Given the description of an element on the screen output the (x, y) to click on. 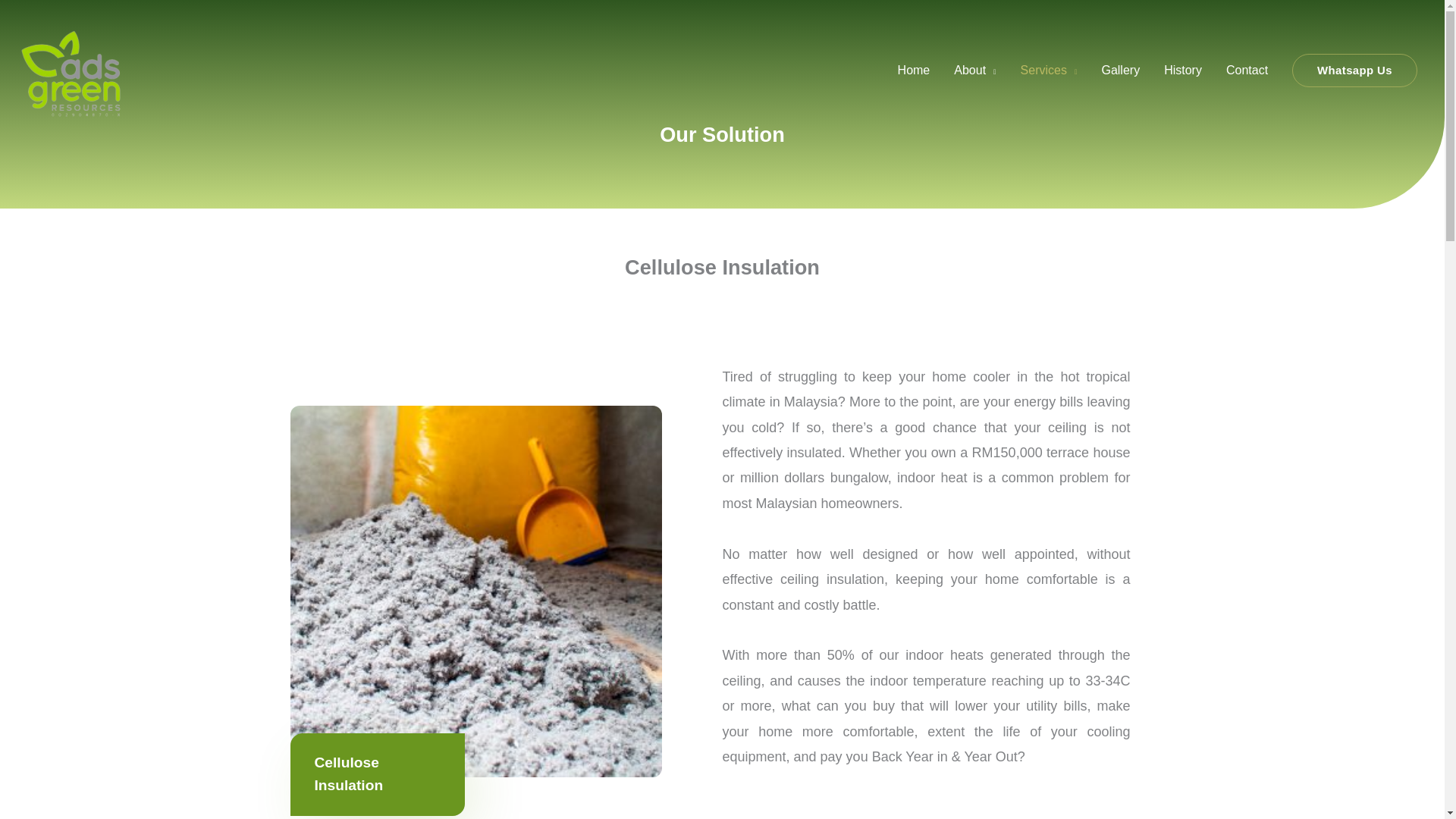
Home (913, 70)
Contact (1246, 70)
Gallery (1120, 70)
About (974, 70)
Services (1049, 70)
Whatsapp Us (1354, 70)
History (1182, 70)
